Given the description of an element on the screen output the (x, y) to click on. 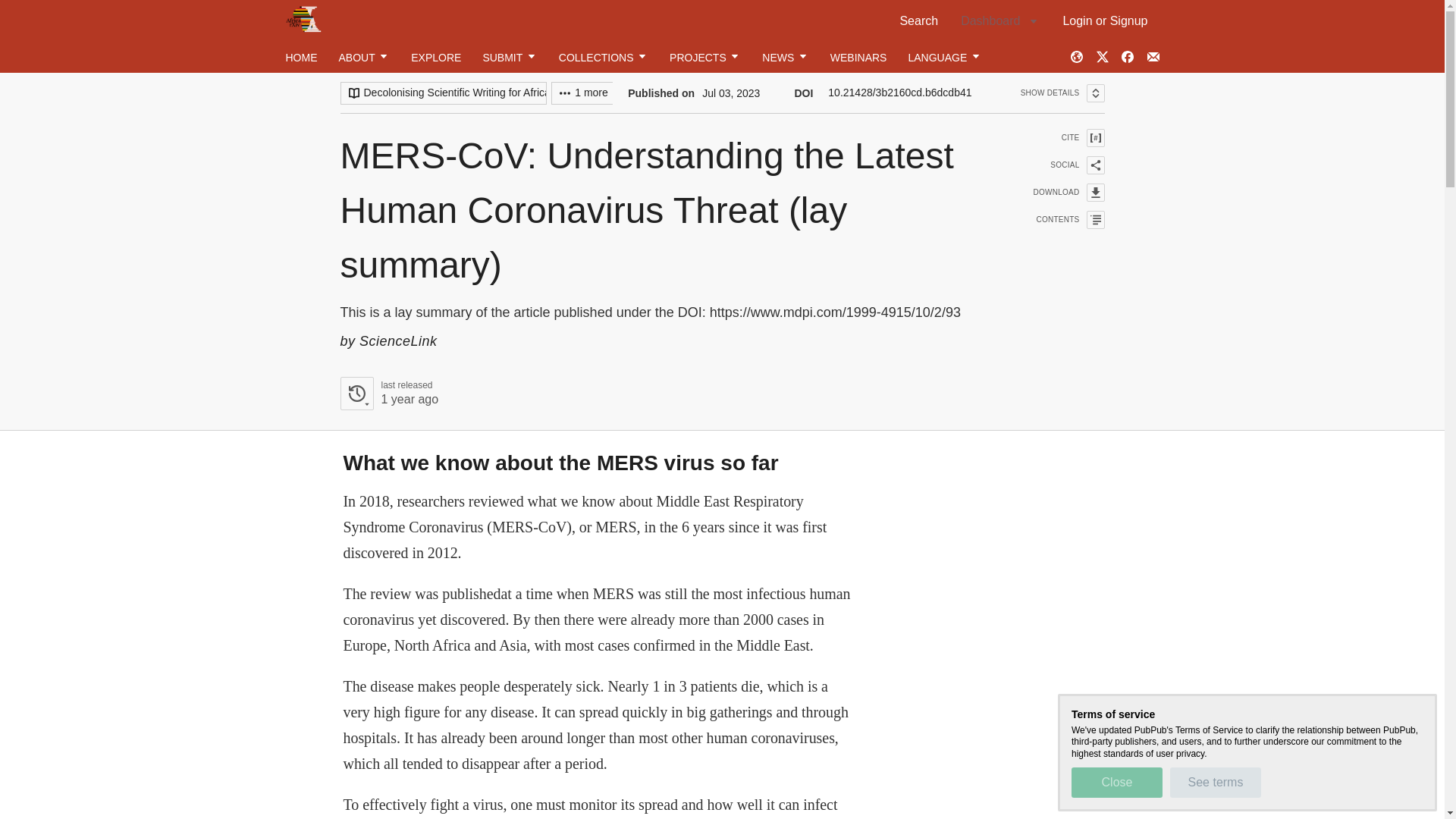
Dashboard (1000, 20)
See terms (1215, 782)
Decolonising Scientific Writing for Africa (443, 92)
1 more (583, 92)
CITE (1058, 137)
Close (1116, 782)
Login or Signup (1104, 20)
SOCIAL (1058, 165)
2023-07-03 07:34 (409, 399)
